Given the description of an element on the screen output the (x, y) to click on. 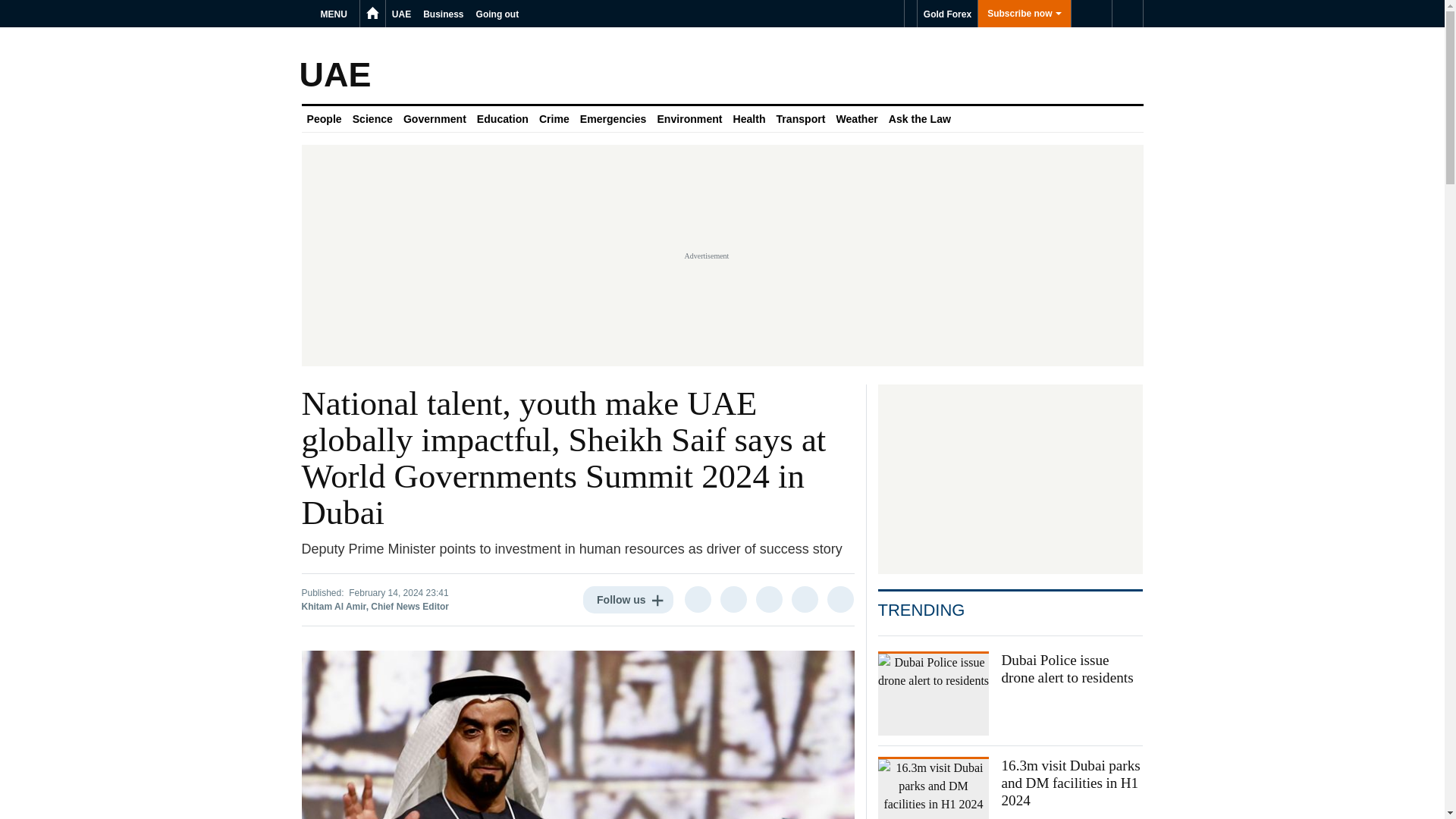
Subscribe now (1024, 13)
Business (442, 13)
MENU (336, 13)
Going out (497, 13)
UAE (400, 13)
Gold Forex (946, 13)
